Given the description of an element on the screen output the (x, y) to click on. 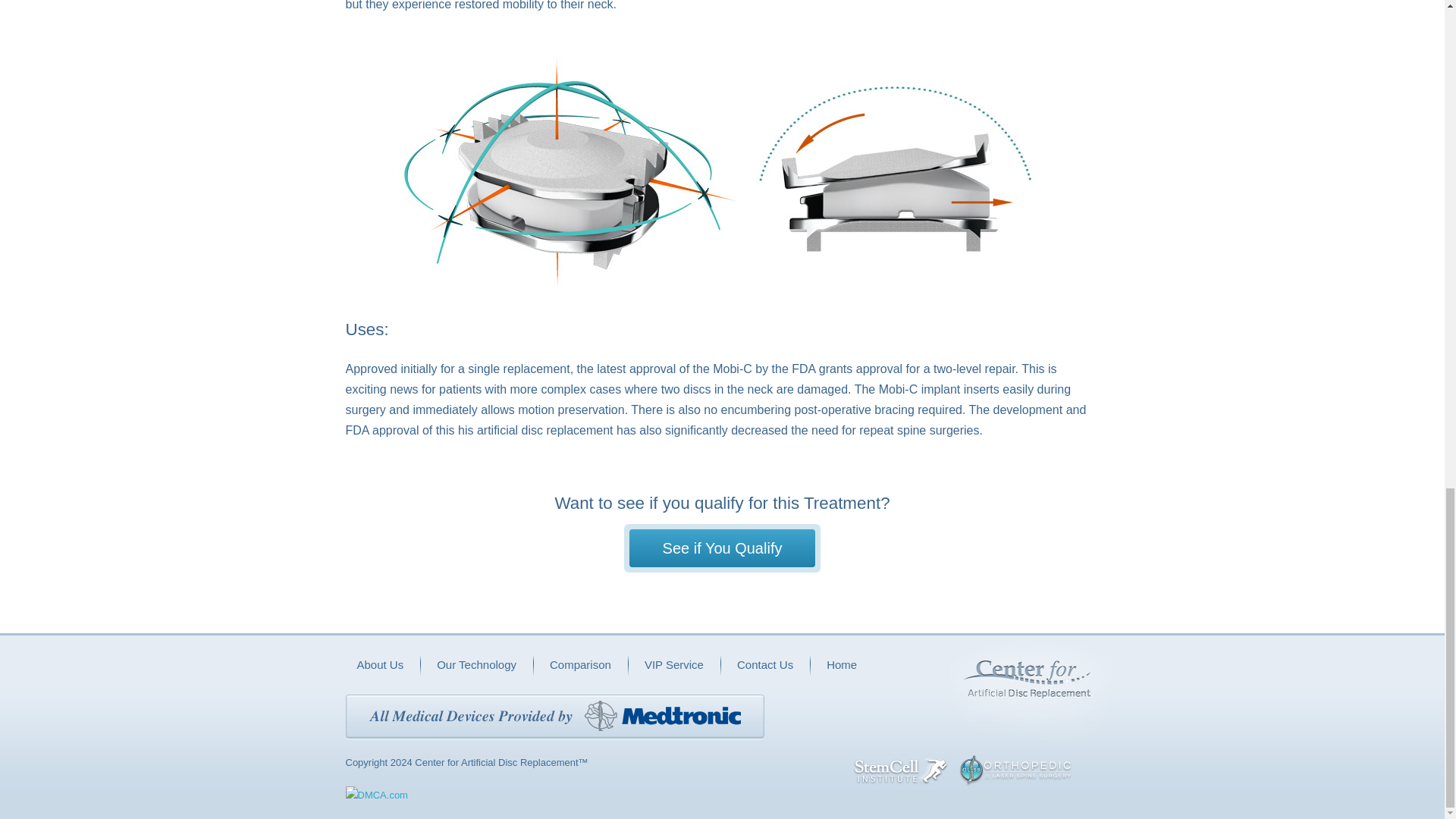
VIP Service (674, 664)
All Medical Devices Provided by Medtronic (555, 717)
See if You Qualify (722, 548)
Home (842, 664)
DMCA (376, 794)
Contact Us (764, 664)
About Us (379, 664)
Our Technology (476, 664)
Comparison (580, 664)
